Given the description of an element on the screen output the (x, y) to click on. 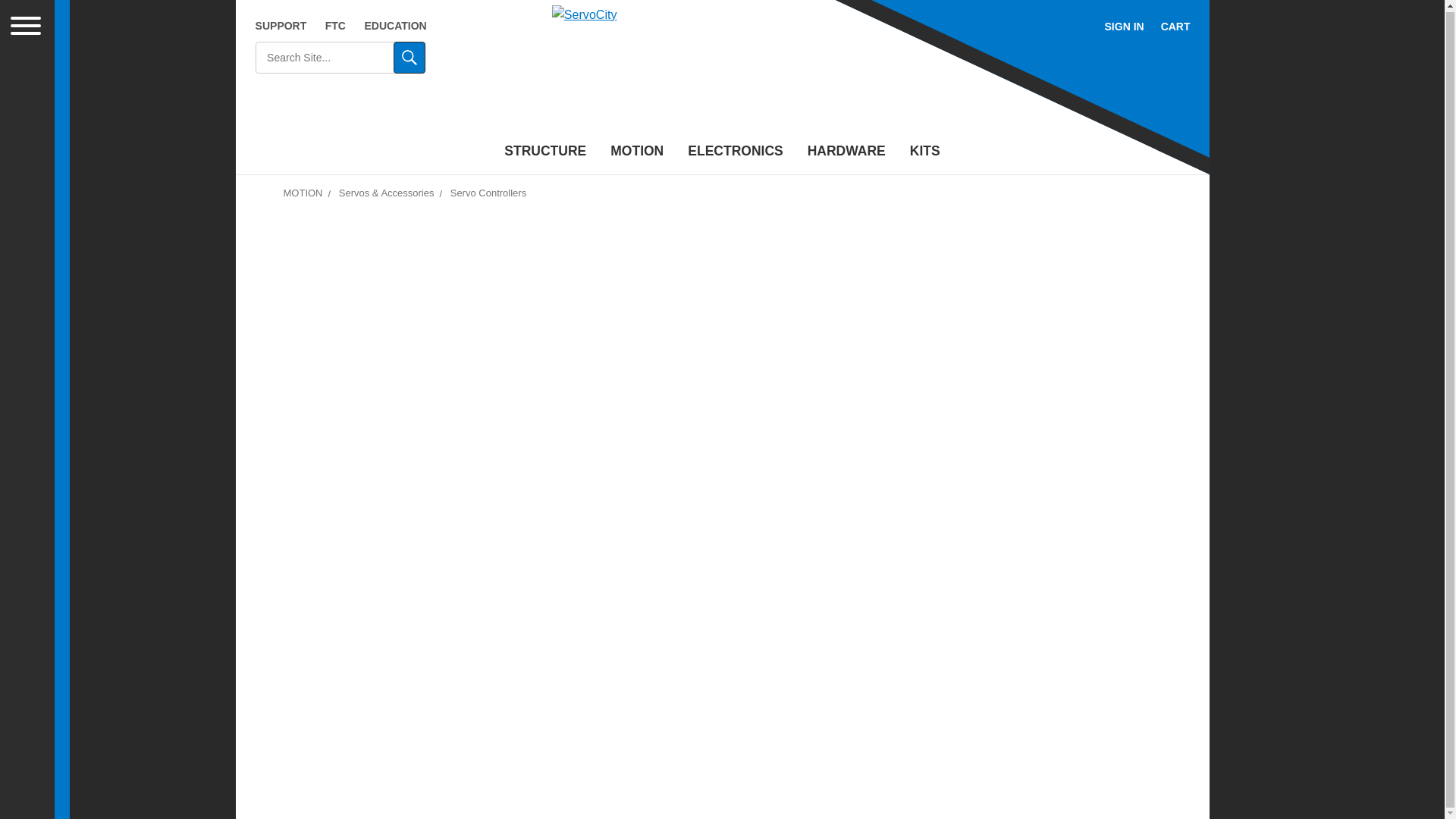
FTC (335, 25)
EDUCATION (394, 25)
ELECTRONICS (734, 152)
KITS (925, 152)
MOTION (636, 152)
ServoCity Home (721, 71)
SUPPORT (280, 25)
SIGN IN (1124, 26)
HARDWARE (846, 152)
CART (1175, 26)
Go (409, 57)
STRUCTURE (545, 152)
